Given the description of an element on the screen output the (x, y) to click on. 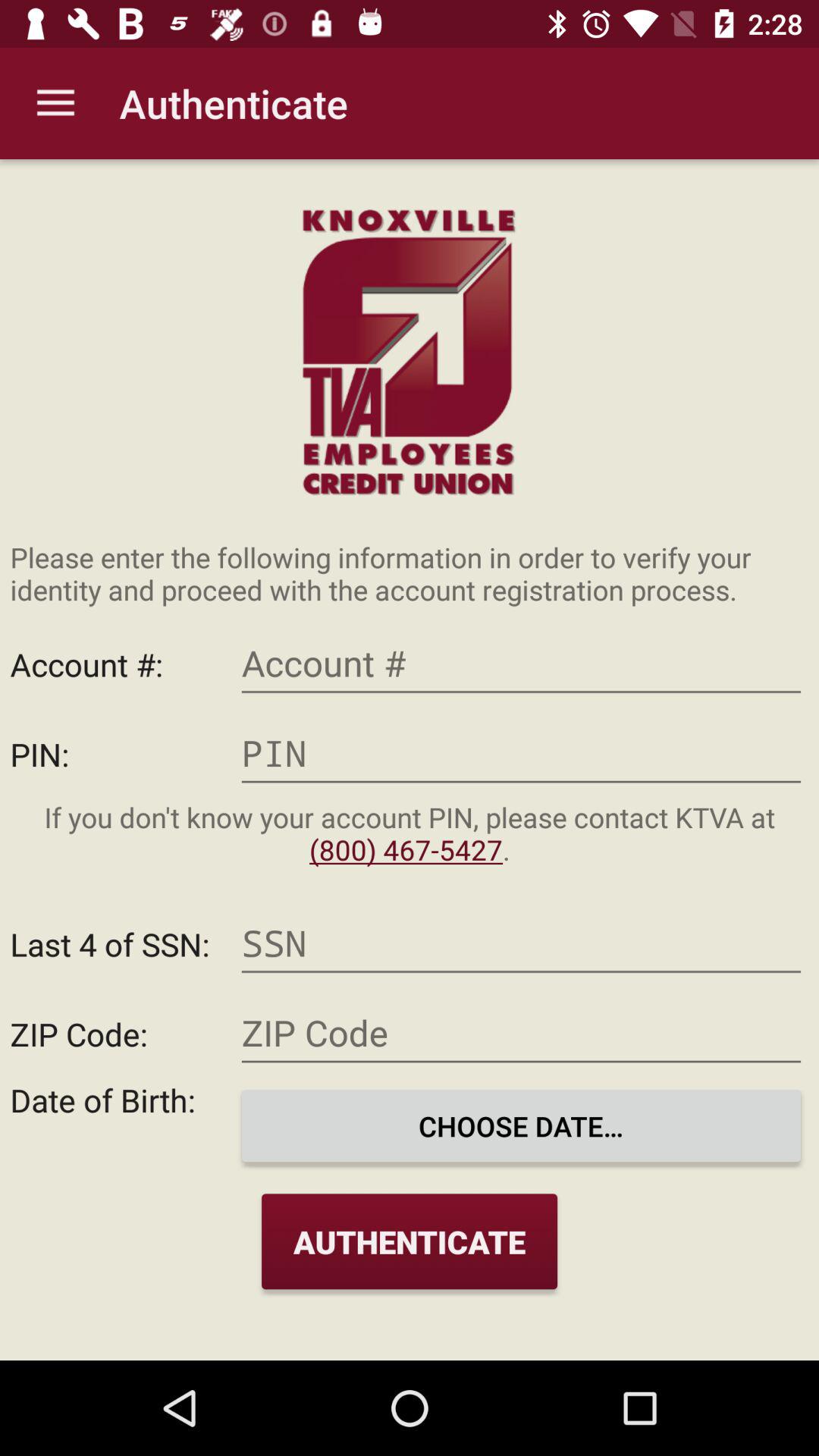
enter account number (520, 663)
